Given the description of an element on the screen output the (x, y) to click on. 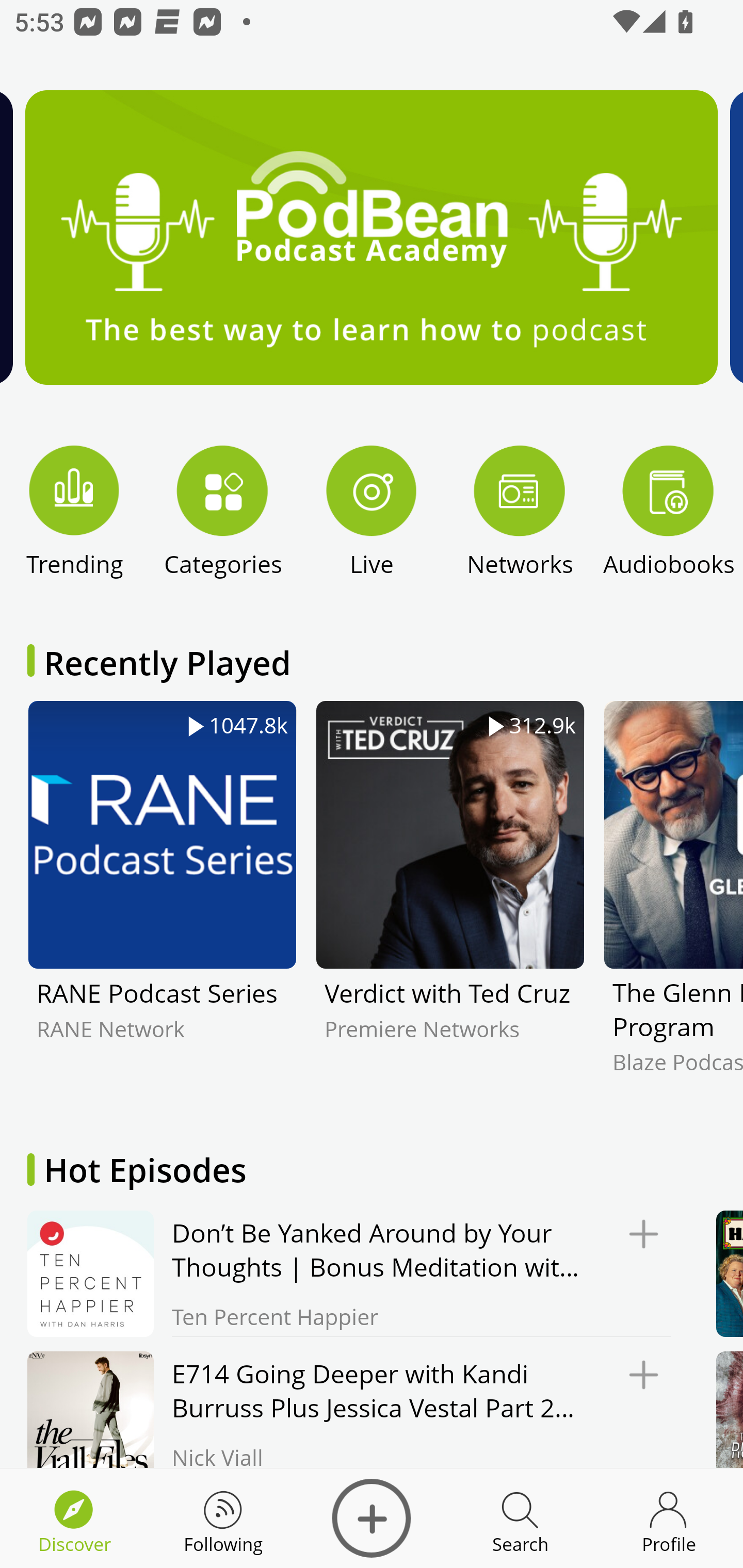
1047.8k RANE Podcast Series RANE Network (162, 902)
312.9k Verdict with Ted Cruz Premiere Networks (450, 902)
The Glenn Beck Program Blaze Podcast Network (673, 902)
Discover Following (222, 1518)
Discover (371, 1518)
Discover Search (519, 1518)
Discover Profile (668, 1518)
